Given the description of an element on the screen output the (x, y) to click on. 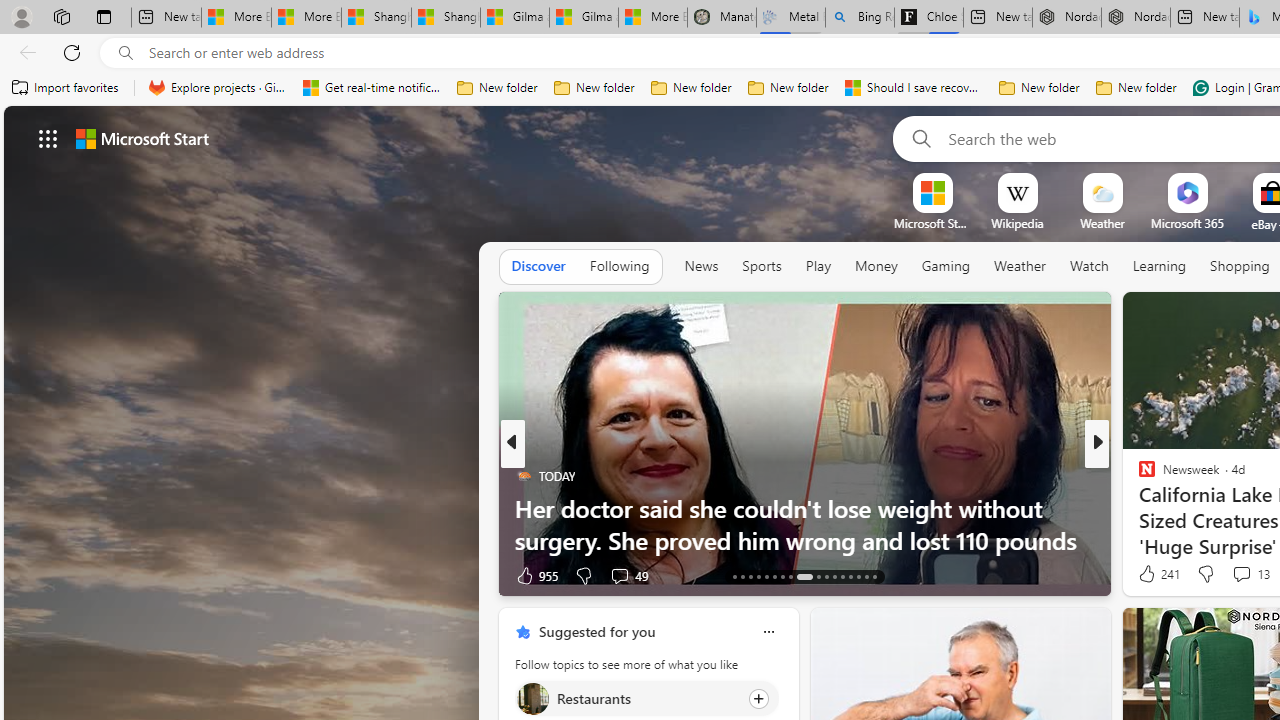
ETNT Mind+Body (1138, 475)
Shopping (1240, 265)
View comments 13 Comment (1249, 574)
Play (817, 265)
Nordace - #1 Japanese Best-Seller - Siena Smart Backpack (1135, 17)
Gilma and Hector both pose tropical trouble for Hawaii (584, 17)
AutomationID: tab-28 (865, 576)
View comments 5 Comment (1234, 574)
AutomationID: tab-24 (833, 576)
View comments 49 Comment (619, 575)
Microsoft start (142, 138)
View comments 13 Comment (1241, 573)
